Given the description of an element on the screen output the (x, y) to click on. 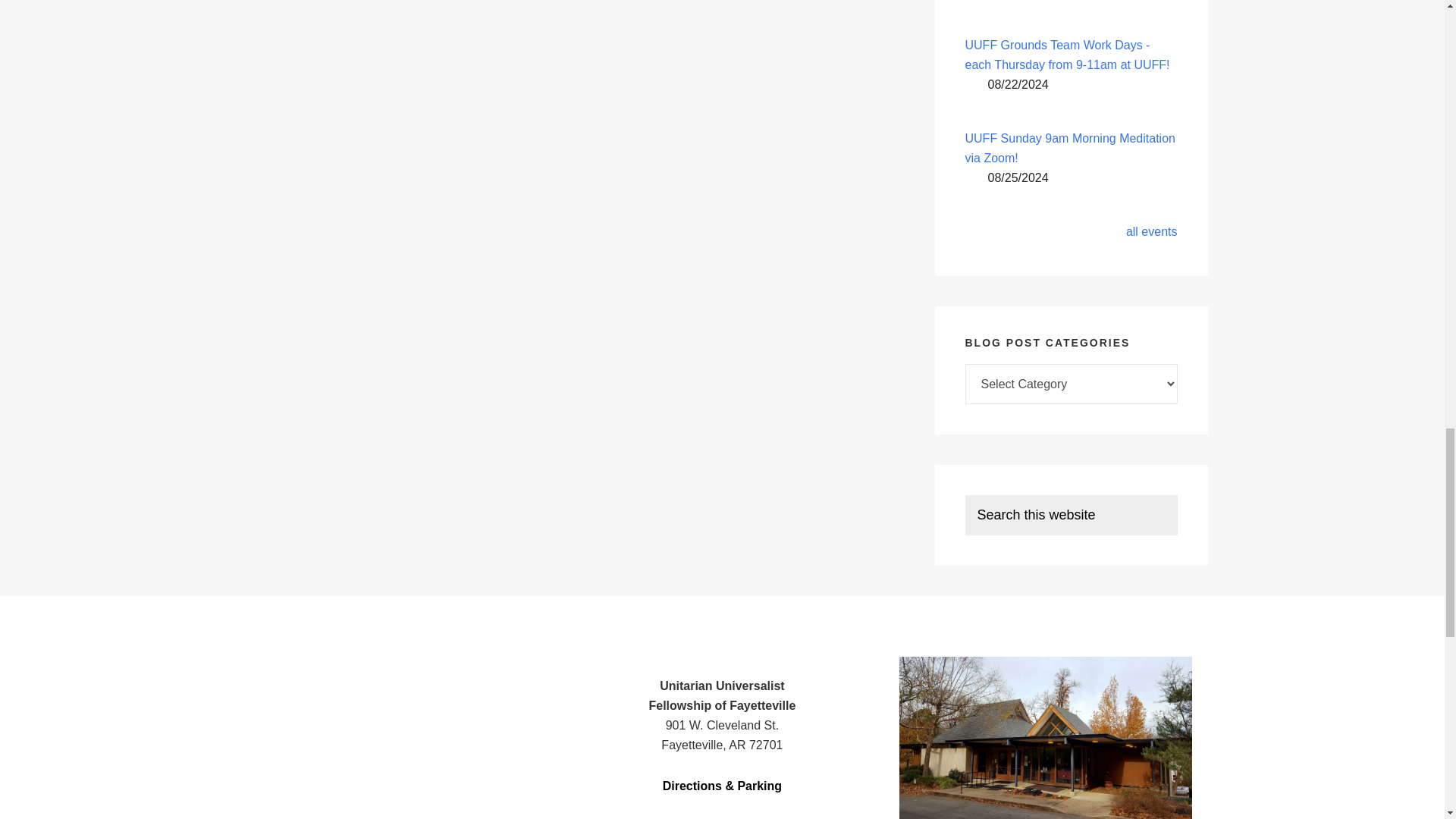
all events (1151, 231)
